Given the description of an element on the screen output the (x, y) to click on. 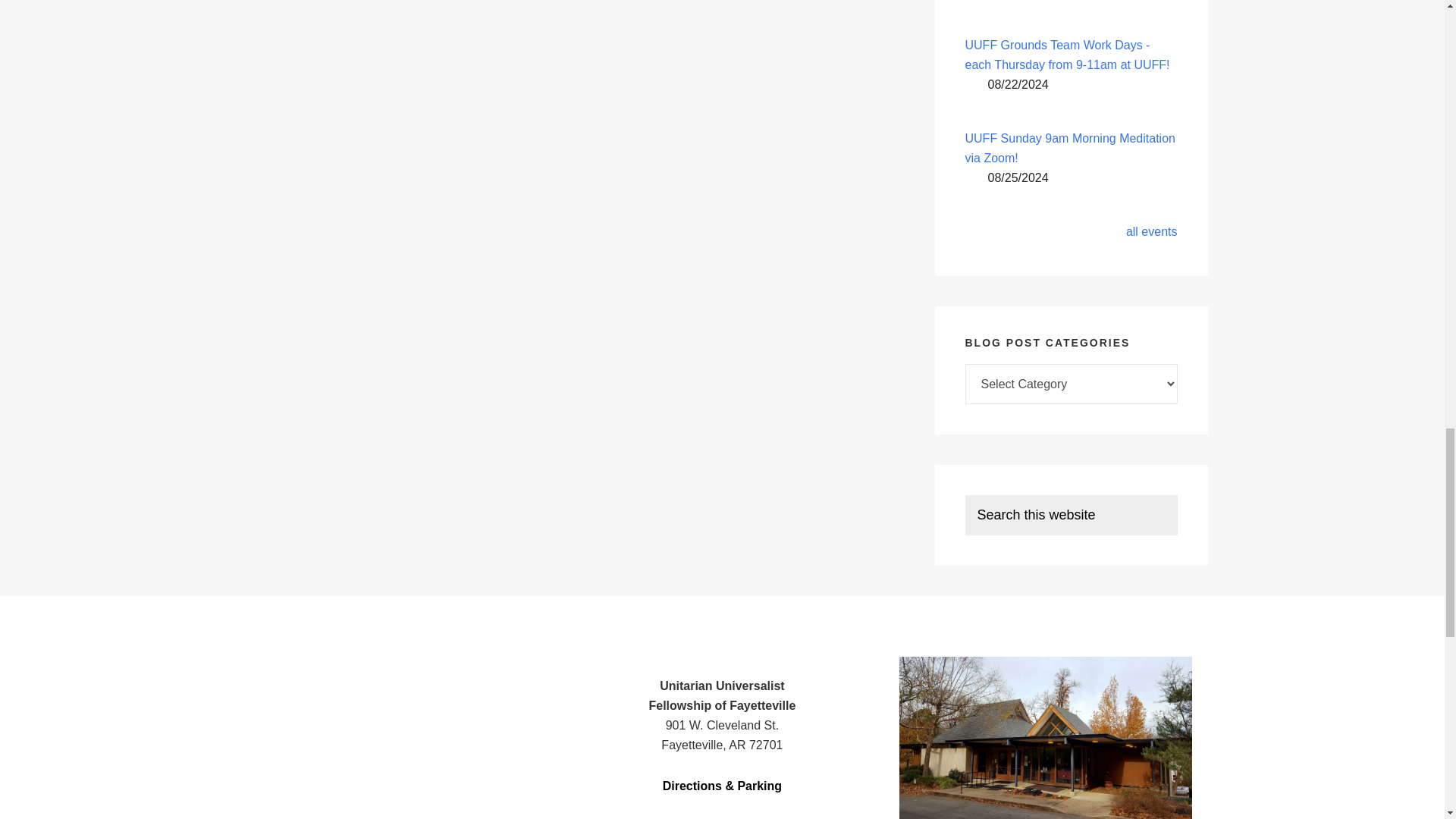
all events (1151, 231)
